Given the description of an element on the screen output the (x, y) to click on. 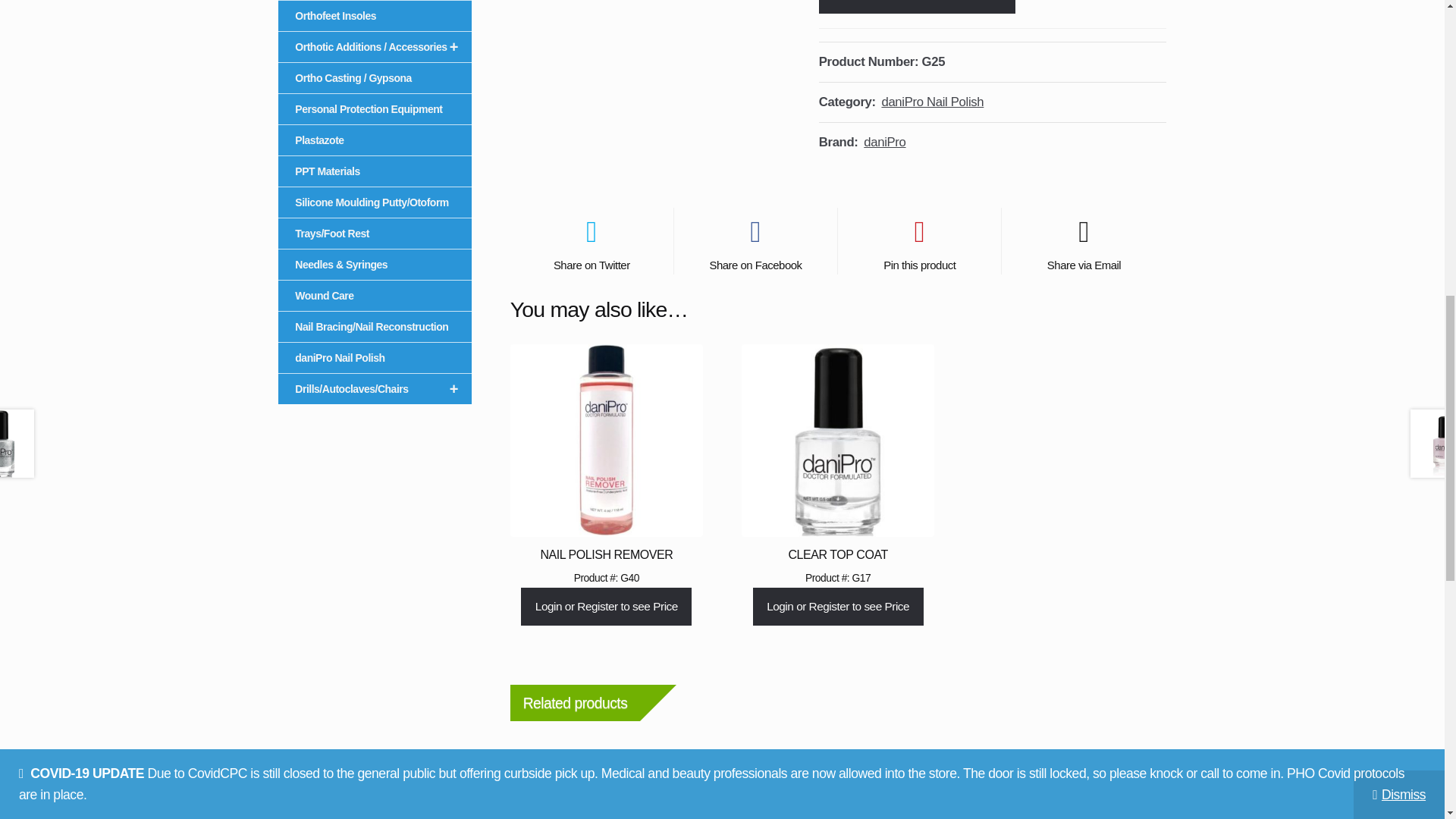
daniPro Nail Polish (932, 101)
Share on Facebook (755, 241)
Pin this product (919, 241)
daniPro (884, 142)
Login or Register to see Price (837, 606)
Login or Register to see Price (606, 606)
Login or Register to see Price (916, 6)
Share via Email (1083, 241)
Share on Twitter (591, 241)
